Given the description of an element on the screen output the (x, y) to click on. 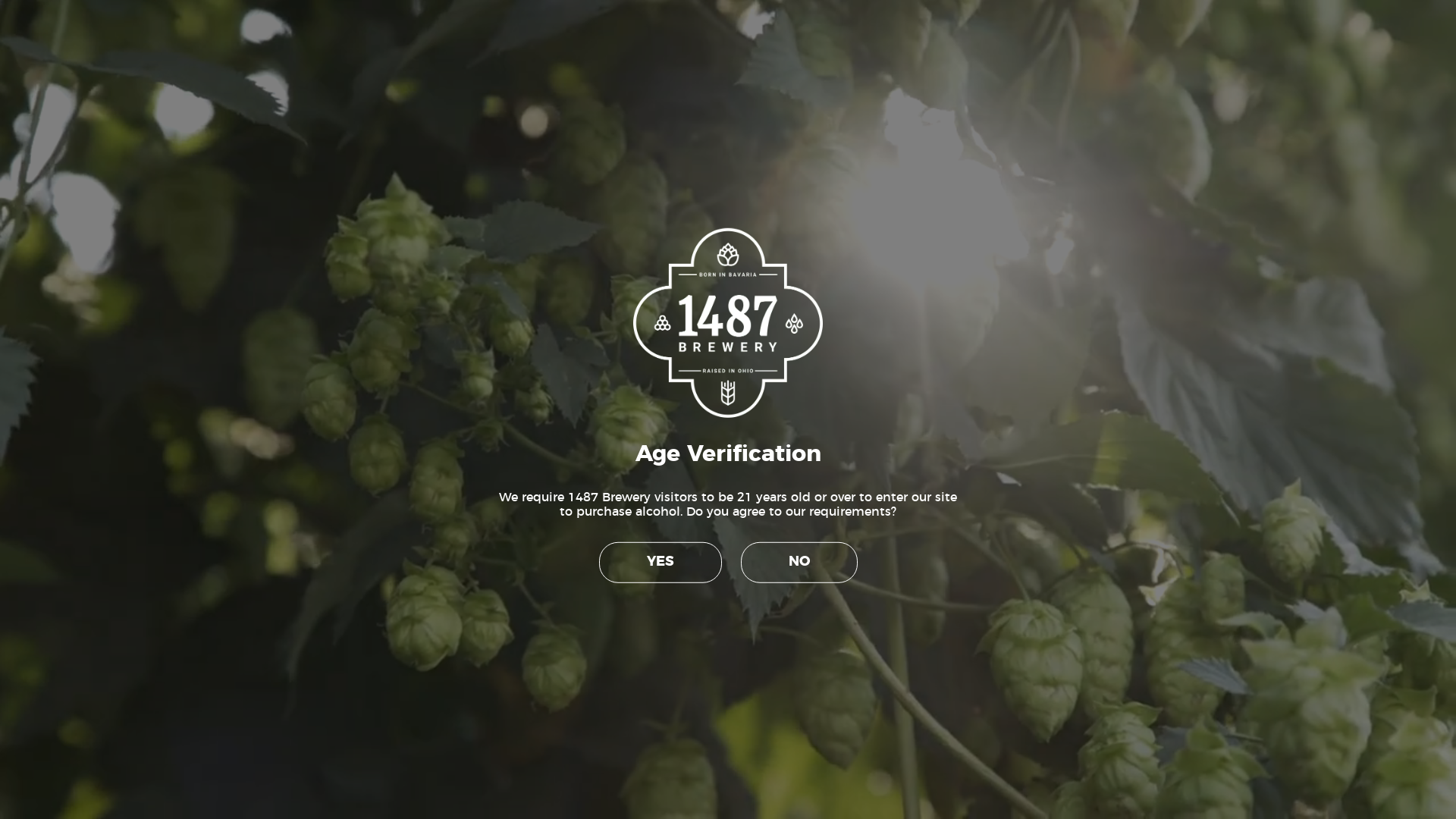
Home Element type: text (457, 43)
YES Element type: text (660, 562)
Contact Us Element type: text (1409, 16)
NO Element type: text (798, 562)
Events & Catering Element type: text (927, 43)
Menus, Carryout, & Delivery Element type: text (641, 43)
About Element type: text (511, 43)
Order E-Gift Cards Element type: text (805, 43)
